Given the description of an element on the screen output the (x, y) to click on. 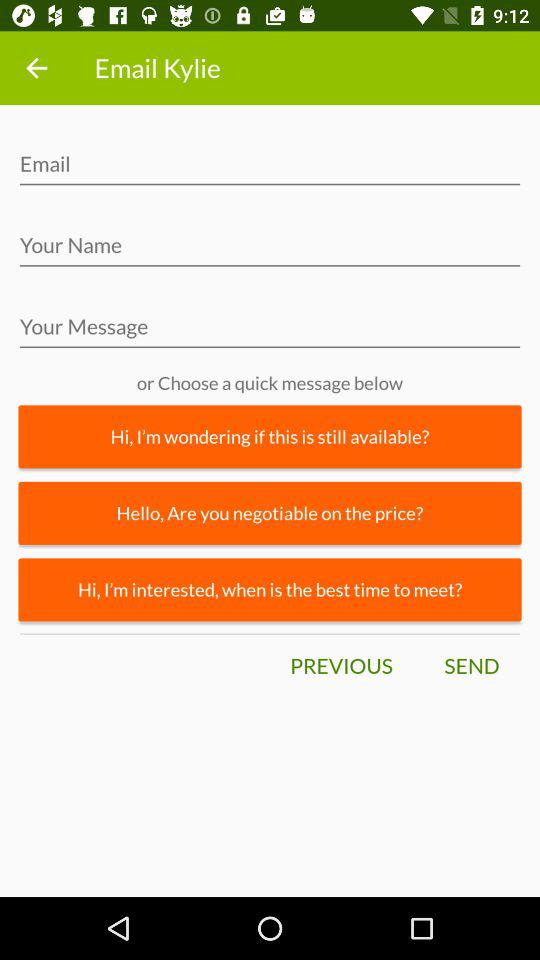
select the icon next to the send (341, 666)
